Given the description of an element on the screen output the (x, y) to click on. 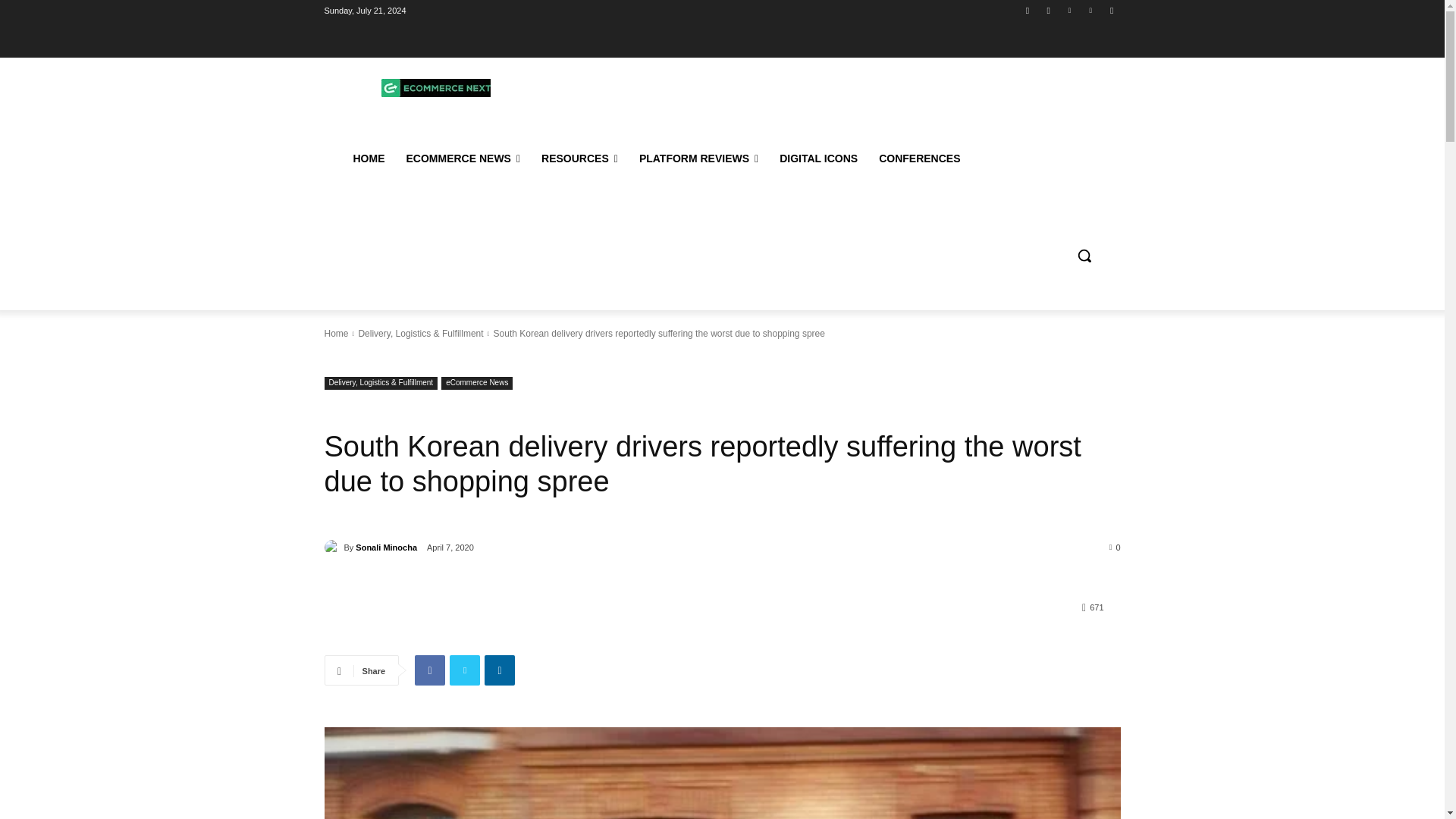
Youtube (1112, 9)
Vimeo (1090, 9)
Twitter (1069, 9)
Facebook (1027, 9)
Instagram (1048, 9)
